Given the description of an element on the screen output the (x, y) to click on. 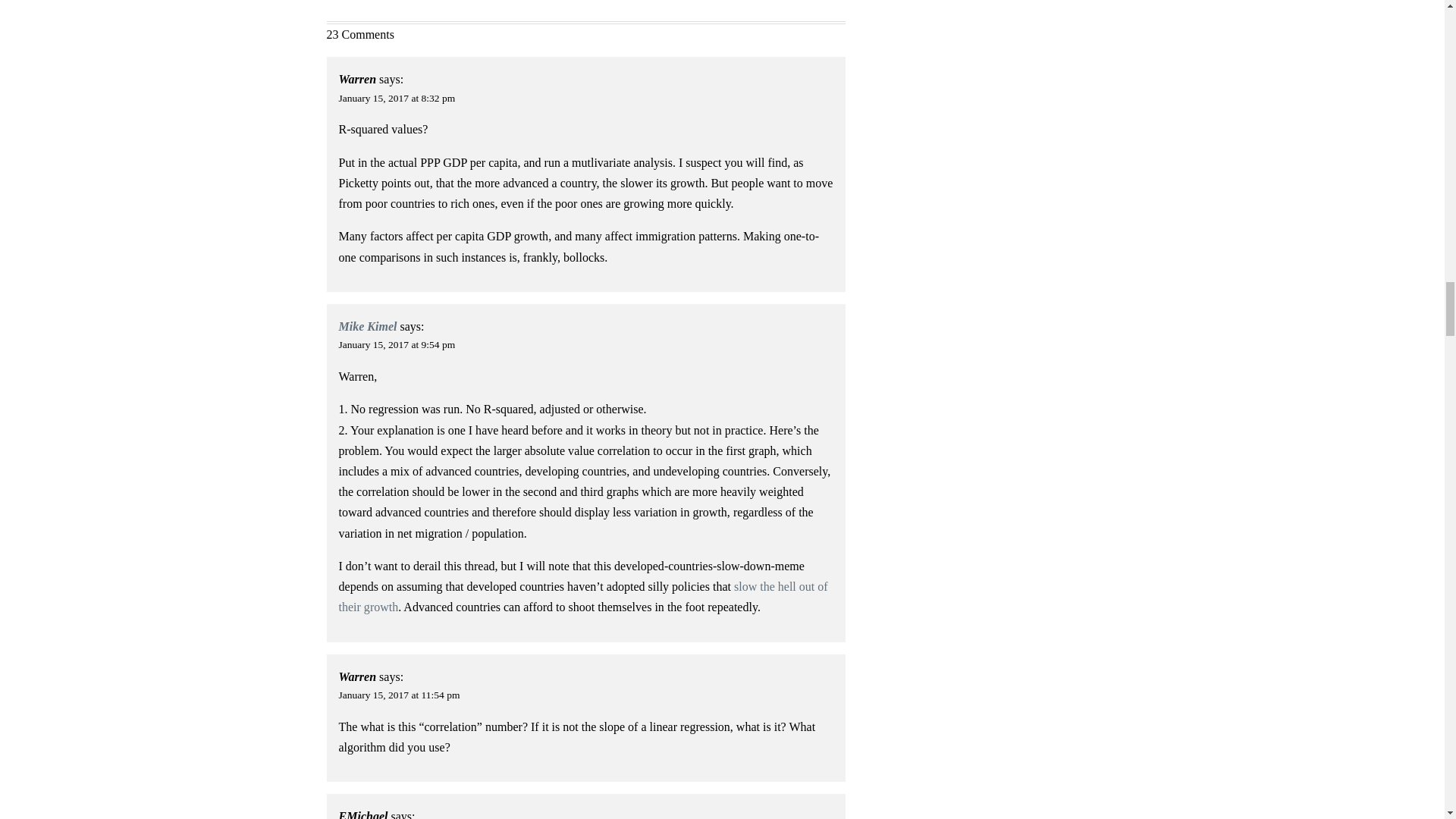
slow the hell out of their growth (583, 596)
Mike Kimel (368, 326)
January 15, 2017 at 8:32 pm (397, 98)
January 15, 2017 at 11:54 pm (399, 695)
January 15, 2017 at 9:54 pm (397, 344)
